Given the description of an element on the screen output the (x, y) to click on. 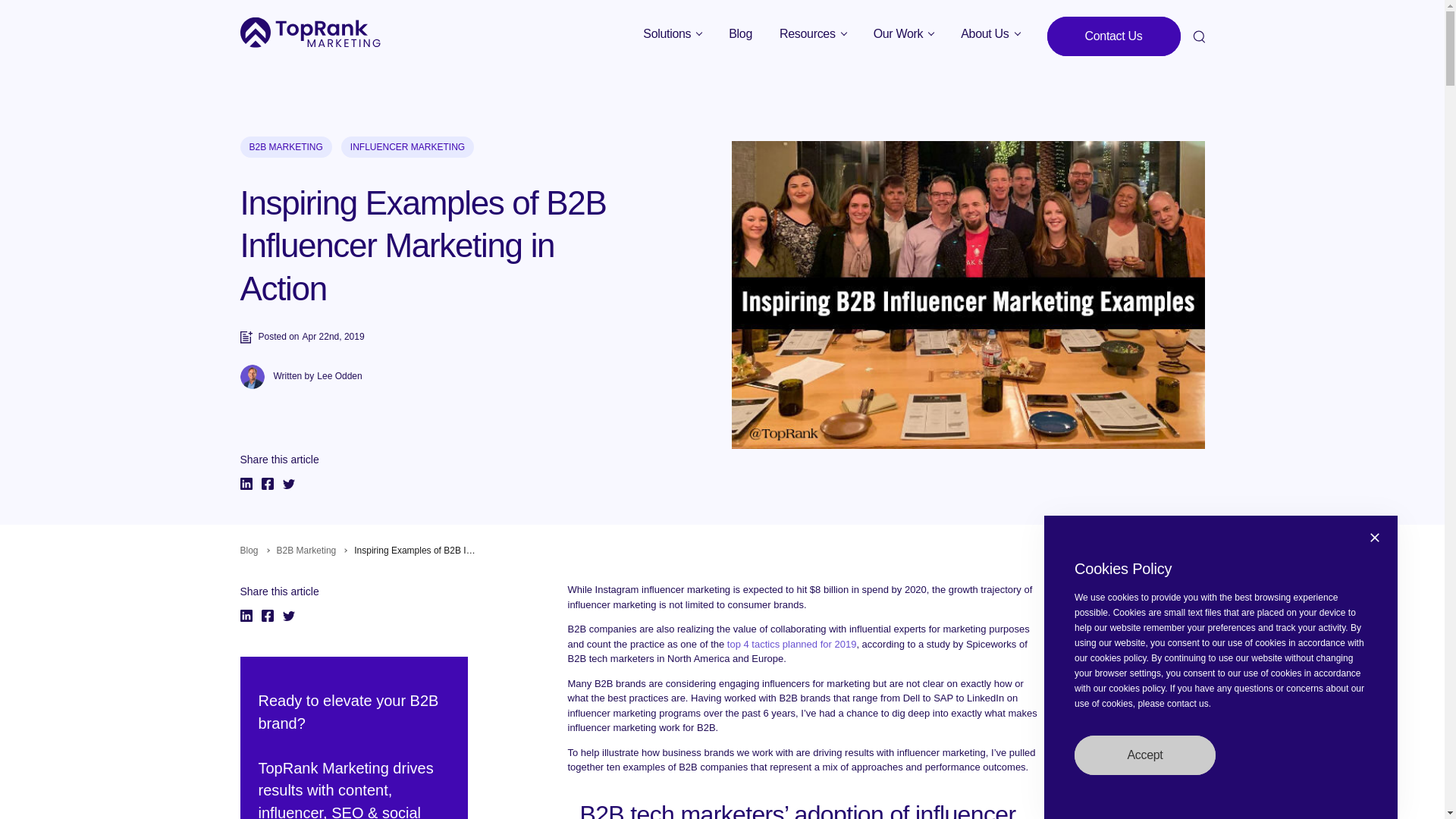
Solutions (671, 33)
Resources (812, 33)
Our Work (903, 33)
TopRankMarketing logo (310, 31)
Contact Us (1112, 36)
About Us (989, 33)
Read Articles - Lee Odden (339, 377)
Blog (739, 33)
